Given the description of an element on the screen output the (x, y) to click on. 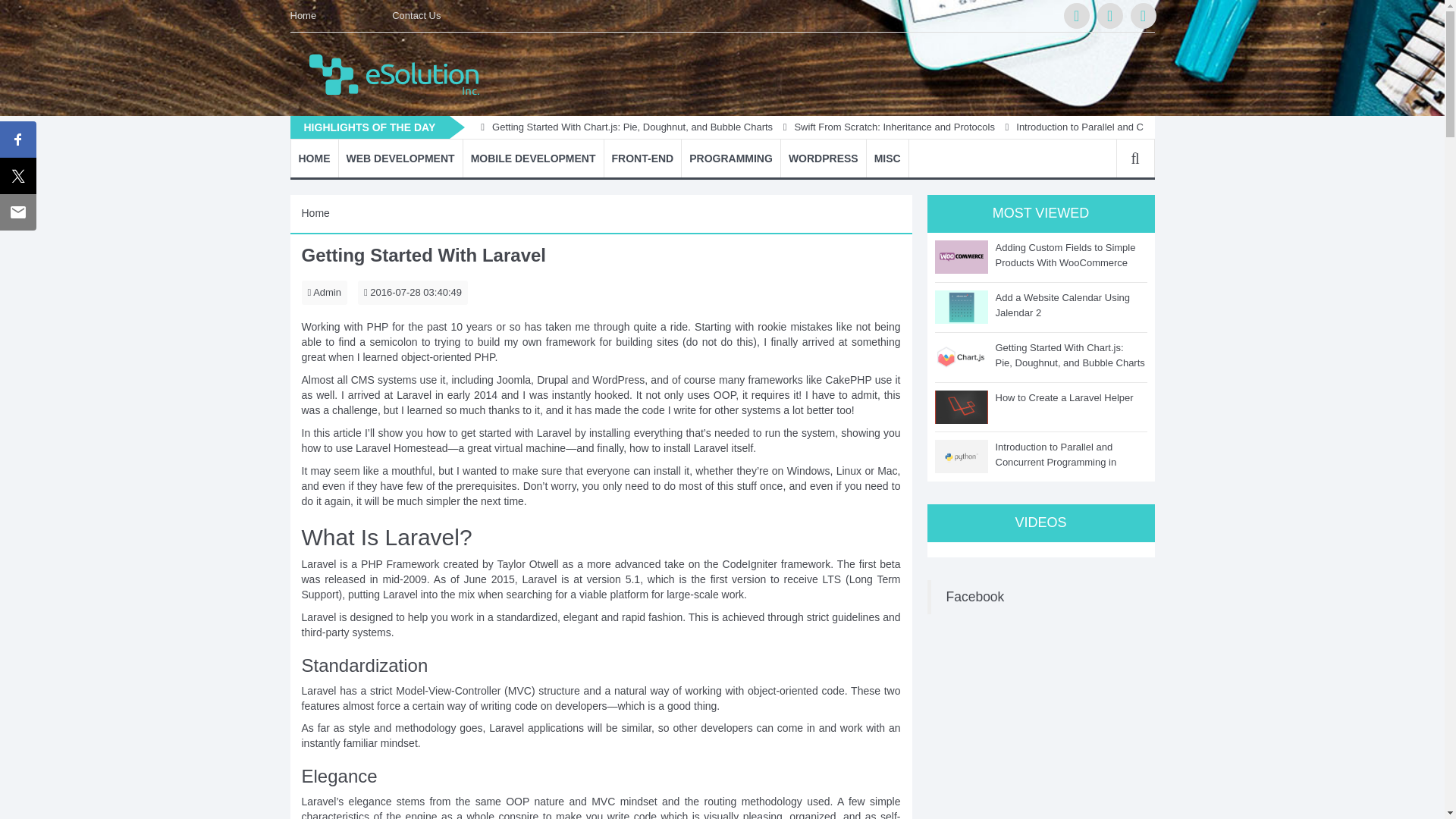
How to Create a Laravel Helper (533, 126)
Swift From Scratch: Inheritance and Protocols (1014, 126)
Web Development (399, 158)
eSolution Inc (400, 71)
HOME (314, 158)
WEB DEVELOPMENT (399, 158)
How to Create a Laravel Helper (479, 126)
FRONT-END (642, 158)
Home (314, 158)
Contact Us (416, 15)
Swift From Scratch: Inheritance and Protocols (959, 126)
